Given the description of an element on the screen output the (x, y) to click on. 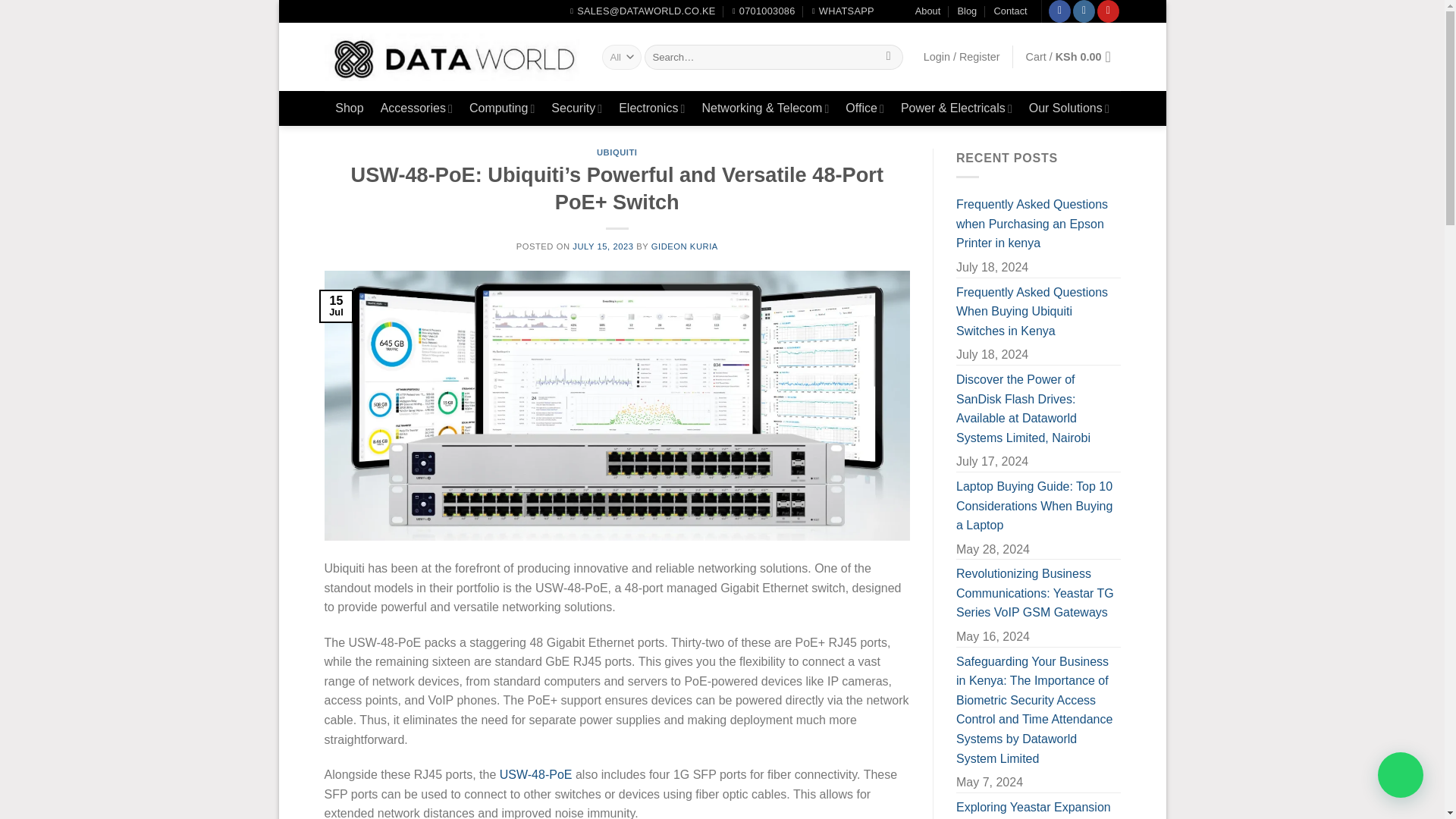
0701003086 (763, 11)
WHATSAPP (843, 11)
Dataworld Kenya - Your number one stop online Marketplace! (451, 57)
0701003086 (763, 11)
254701003086 (843, 11)
Computing (501, 108)
Shop (348, 108)
Accessories (416, 108)
